Given the description of an element on the screen output the (x, y) to click on. 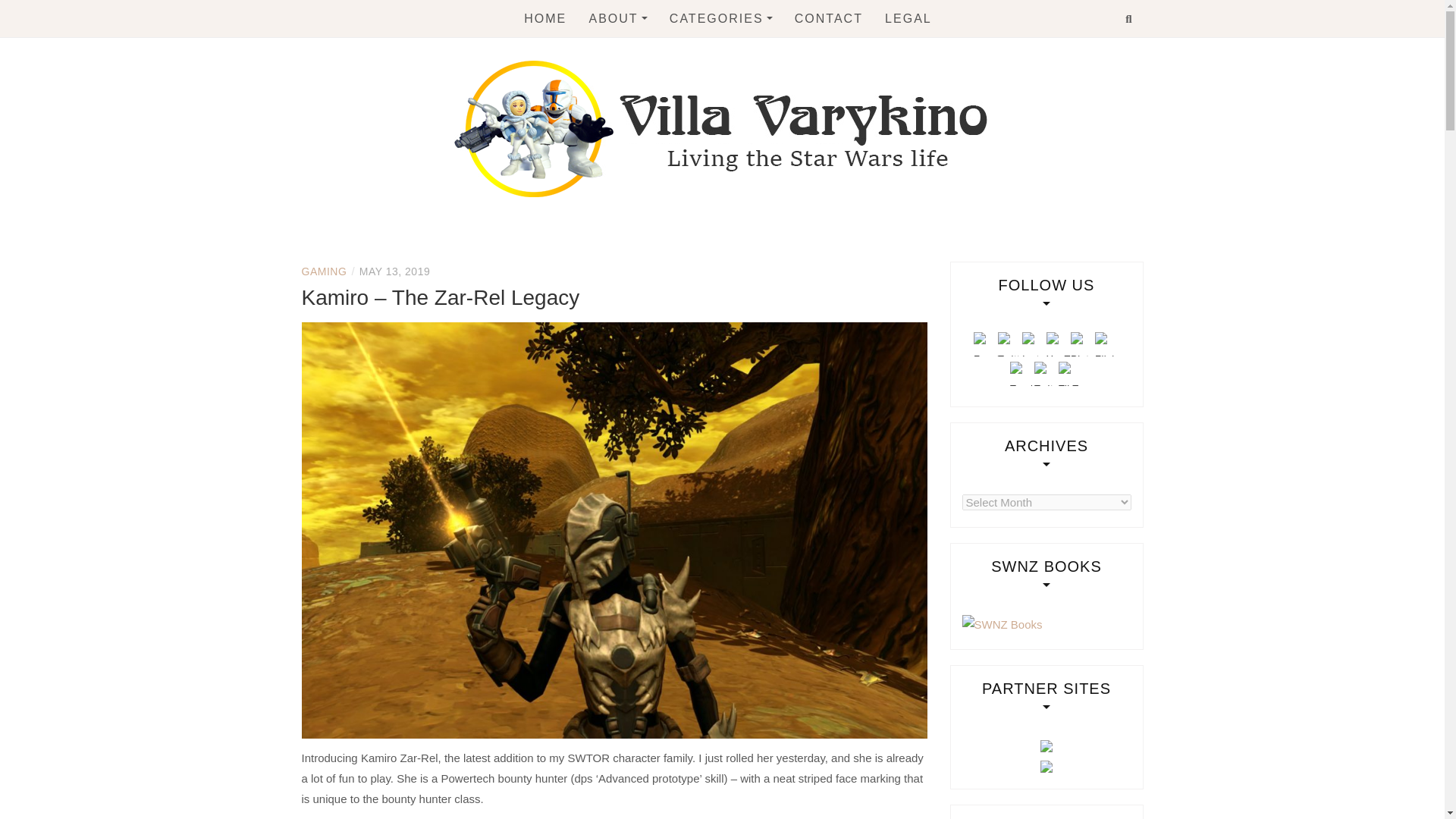
GAMING (752, 146)
CONTACT (828, 18)
MISCELLANEOUS (752, 208)
OUR DISPLAYS (671, 145)
NON-STAR WARS (752, 239)
CATEGORIES (721, 18)
EVENTS (752, 115)
VLOGS (752, 271)
LEGAL (908, 18)
HOME (545, 18)
